Given the description of an element on the screen output the (x, y) to click on. 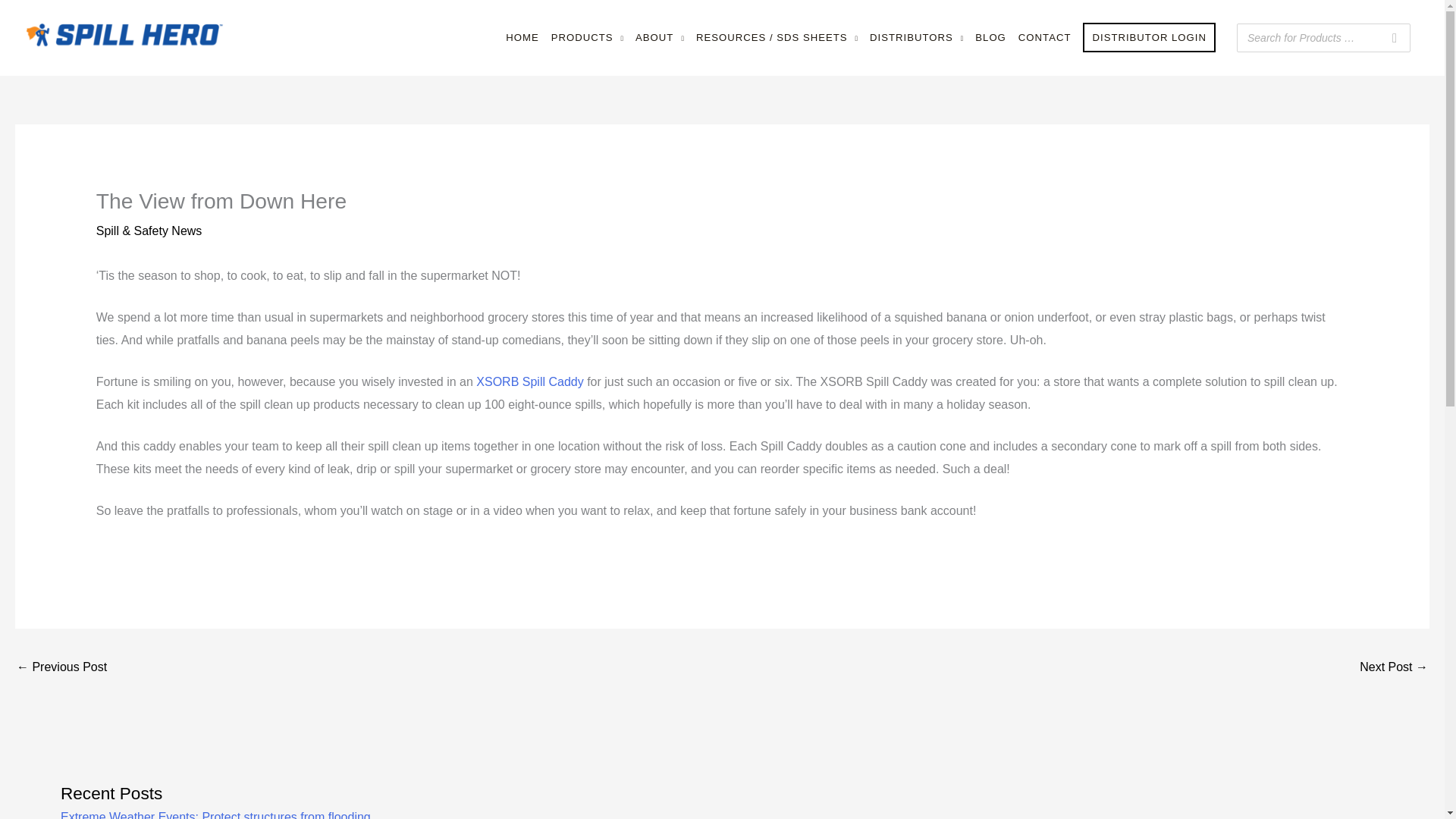
DISTRIBUTORS (916, 37)
Extreme Weather Events: Protect structures from flooding (216, 814)
PRODUCTS (586, 37)
Solid, Dude! (1393, 668)
HOME (521, 37)
ABOUT (659, 37)
DISTRIBUTOR LOGIN (1149, 37)
BLOG (990, 37)
CONTACT (1044, 37)
XSORB Spill Caddy (529, 381)
Something Fishy Going On? (61, 668)
